Given the description of an element on the screen output the (x, y) to click on. 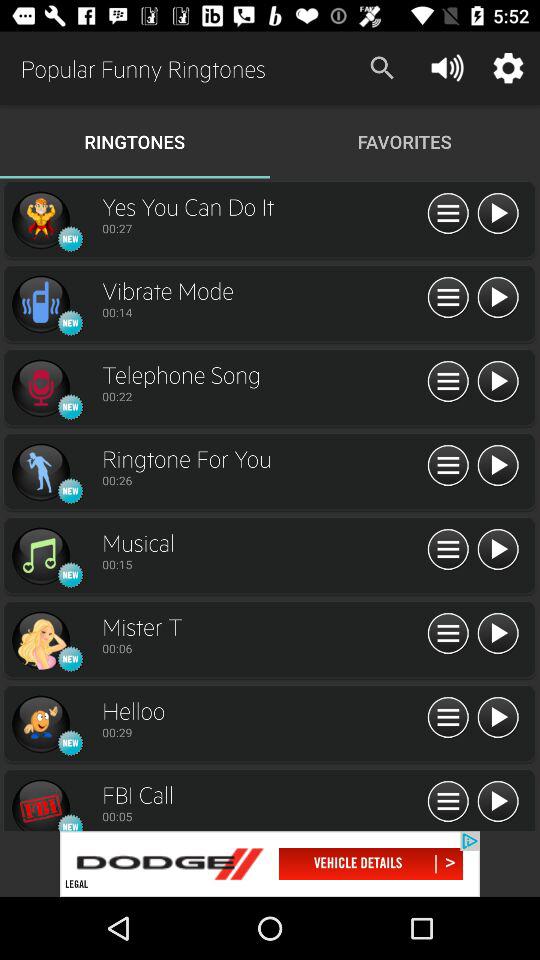
ringtones icon (40, 388)
